Given the description of an element on the screen output the (x, y) to click on. 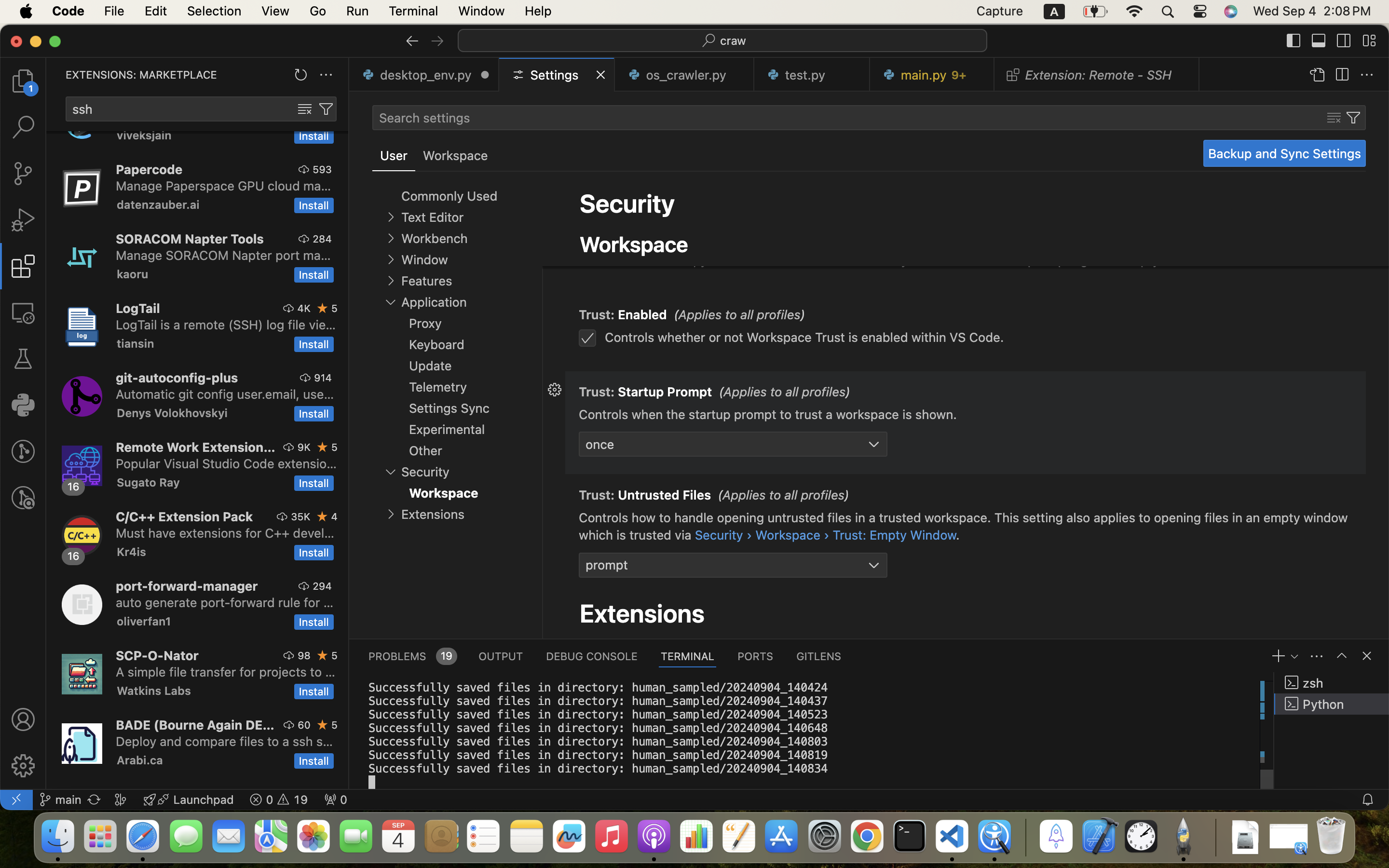
294 Element type: AXStaticText (321, 585)
Empty Window Element type: AXStaticText (663, 220)
Python  Element type: AXGroup (1331, 703)
main  Element type: AXButton (59, 799)
Enabled Element type: AXStaticText (642, 314)
